Given the description of an element on the screen output the (x, y) to click on. 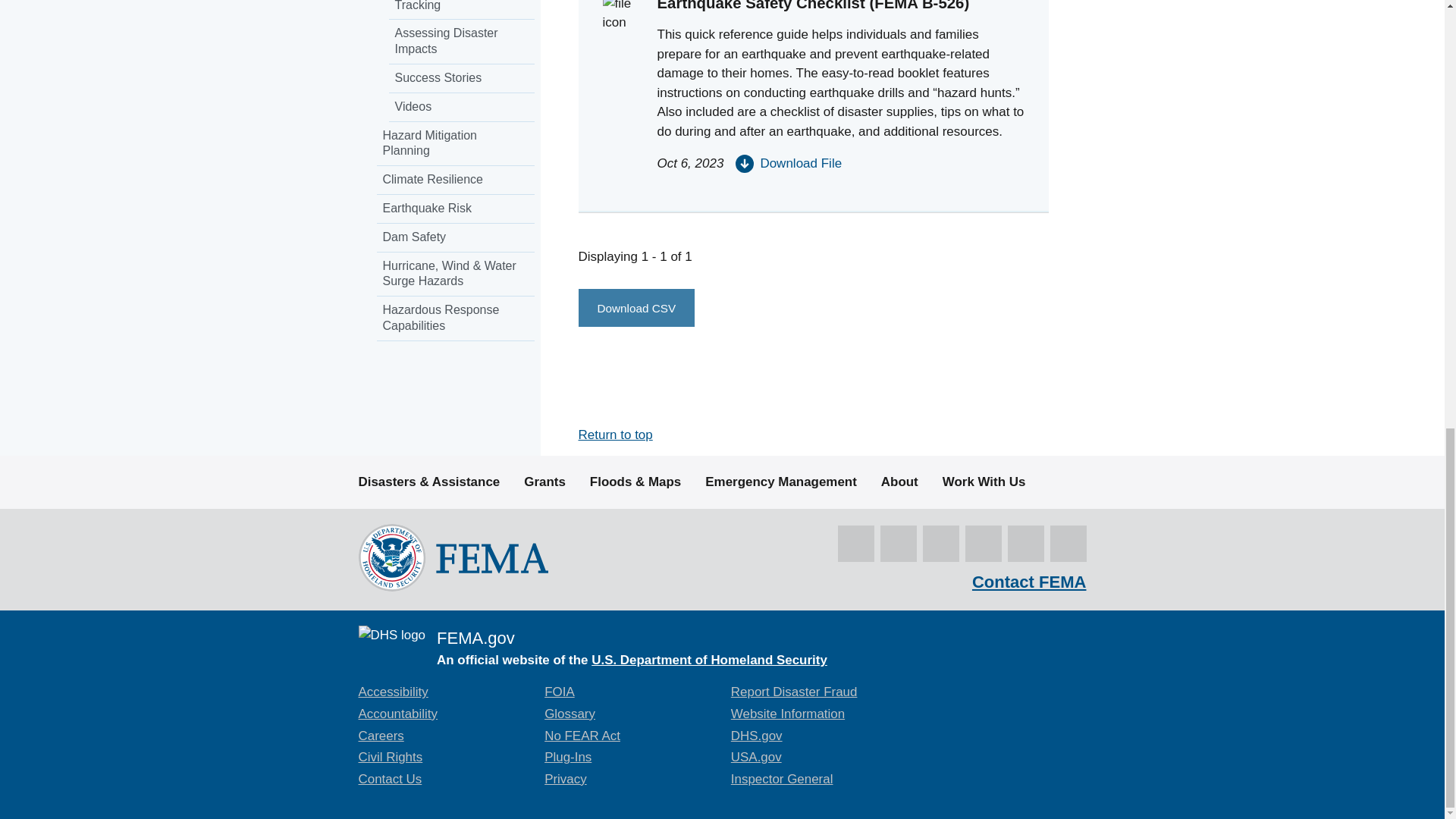
FEMA logo (452, 557)
National Terrorism Advisory System (1021, 693)
